Given the description of an element on the screen output the (x, y) to click on. 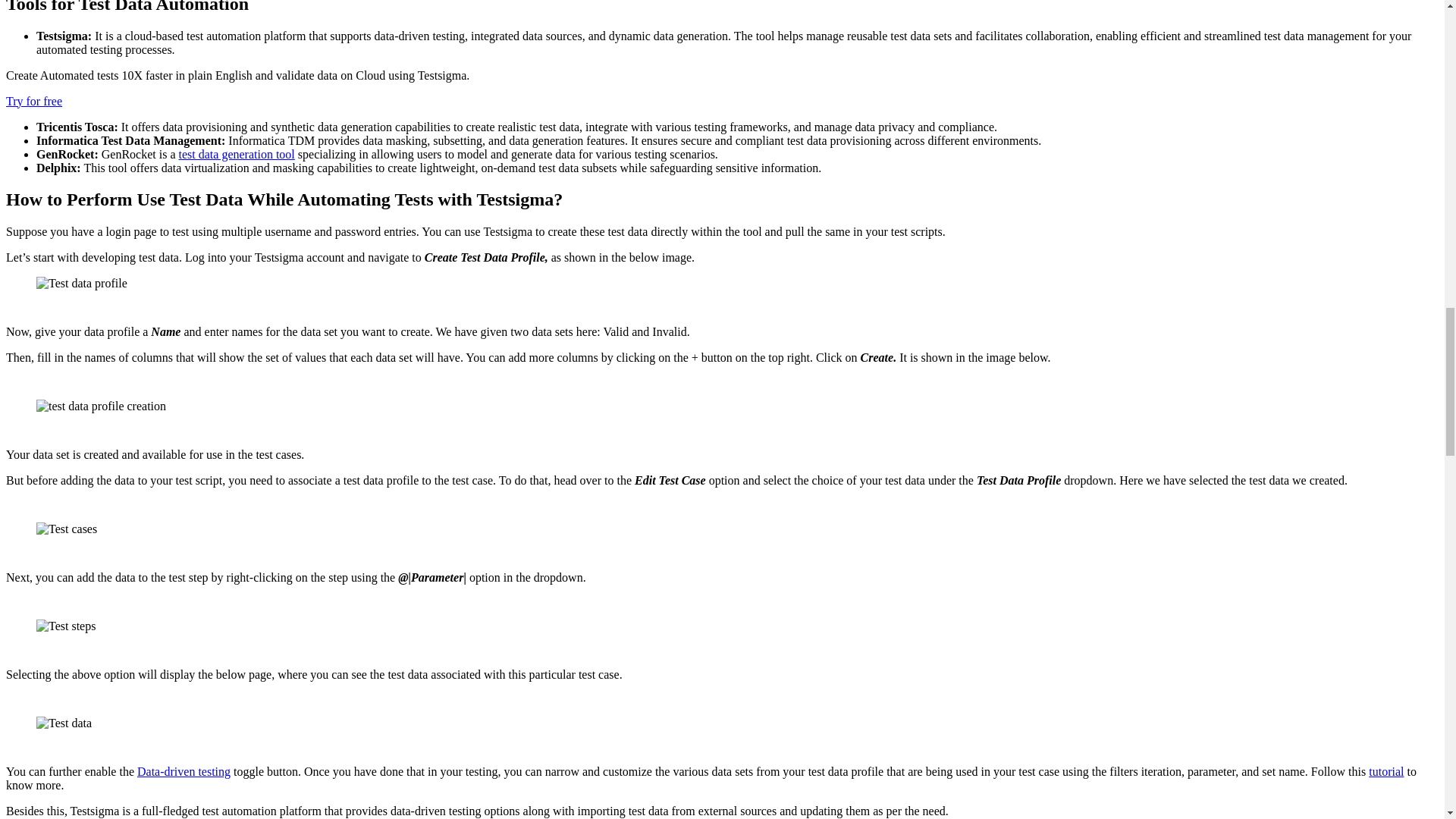
tutorial (1385, 771)
test data generation tool (237, 153)
Data-driven testing (183, 771)
Try for free (33, 100)
